Given the description of an element on the screen output the (x, y) to click on. 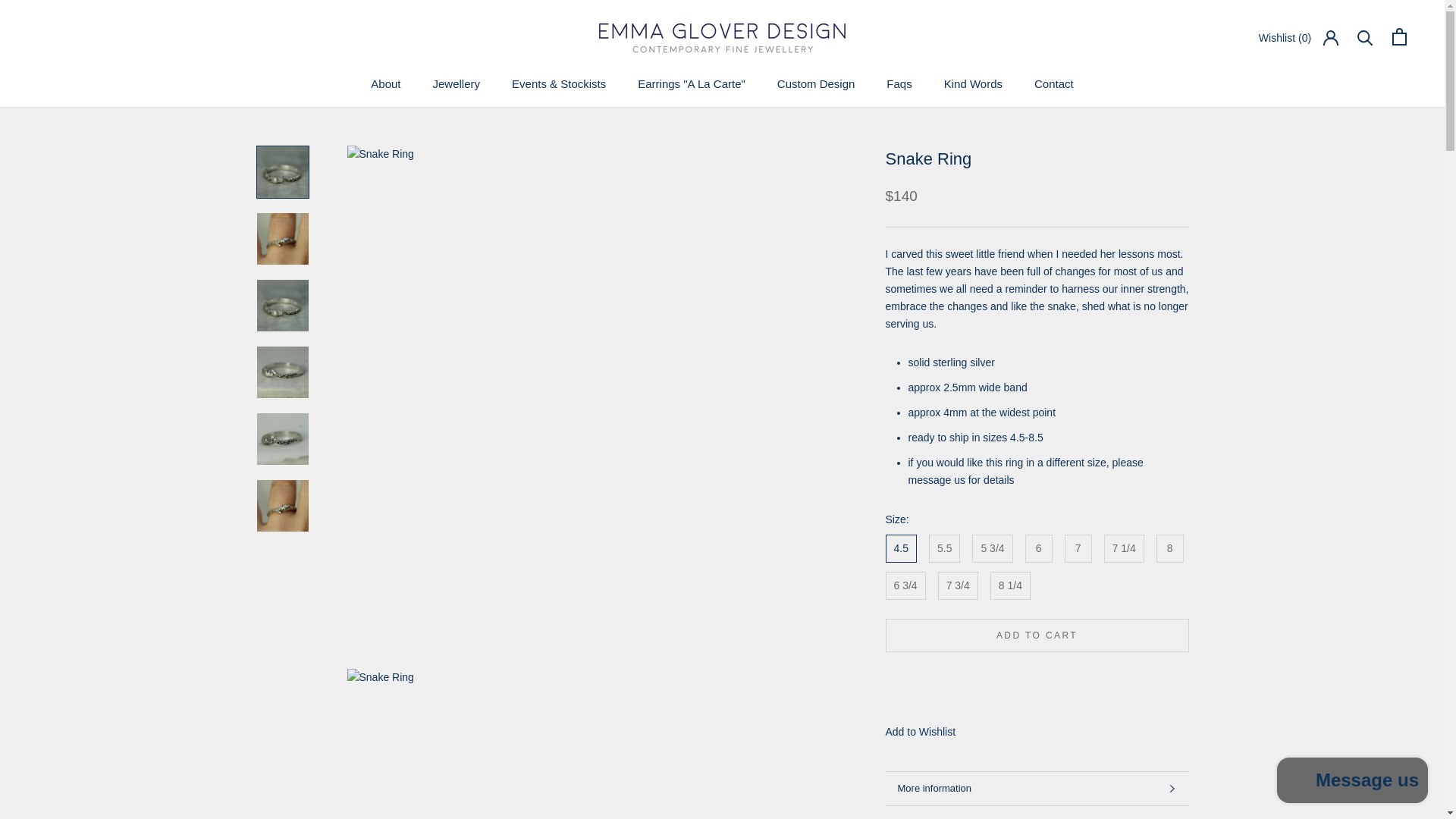
Shopify online store chat (385, 83)
